Given the description of an element on the screen output the (x, y) to click on. 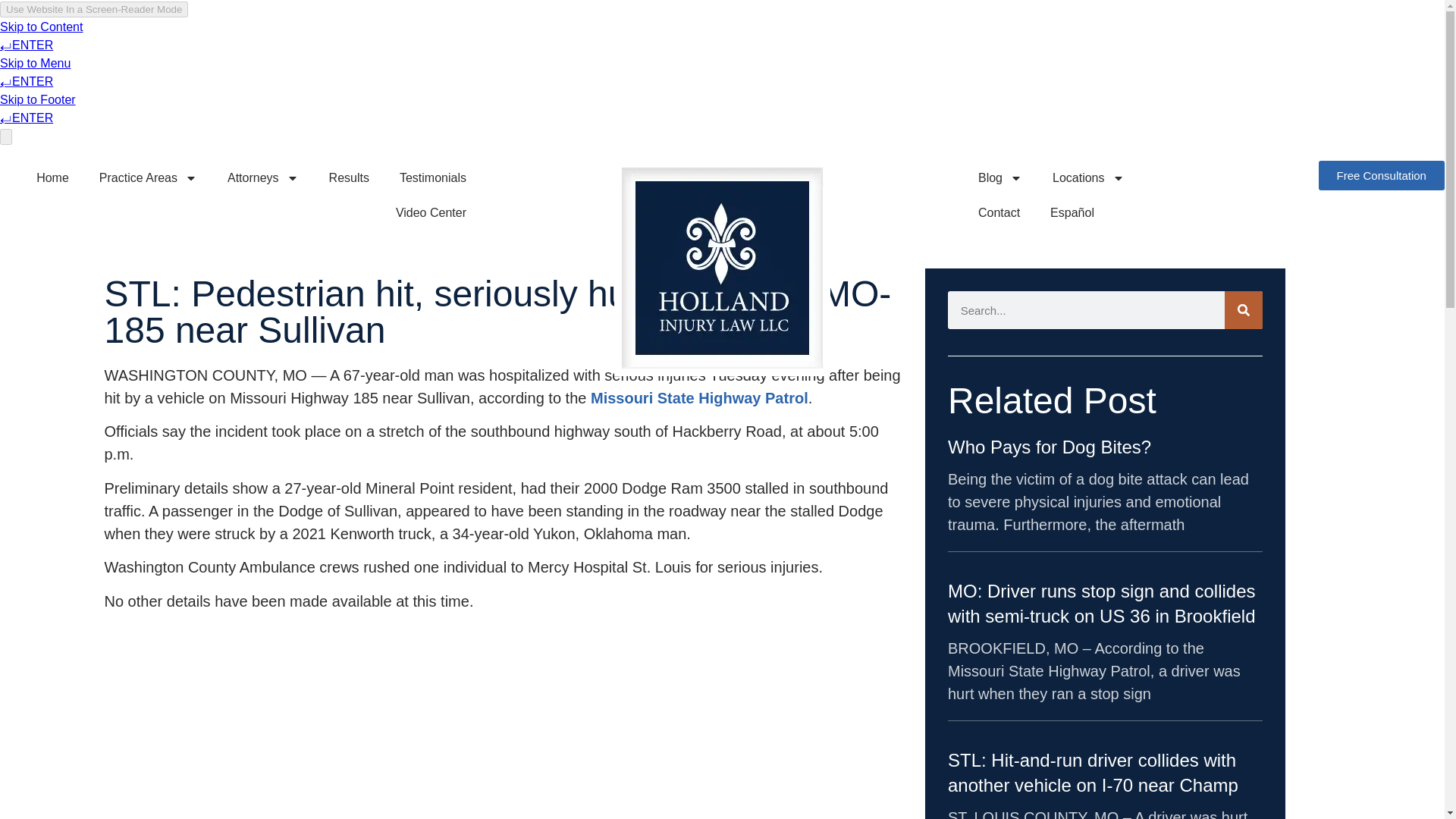
HollandInjuryLaw-logo-1 1 - Holland Injury LLC (721, 267)
Video Center (430, 212)
Home (52, 177)
Testimonials (432, 177)
Attorneys (263, 177)
Results (349, 177)
Practice Areas (148, 177)
